Given the description of an element on the screen output the (x, y) to click on. 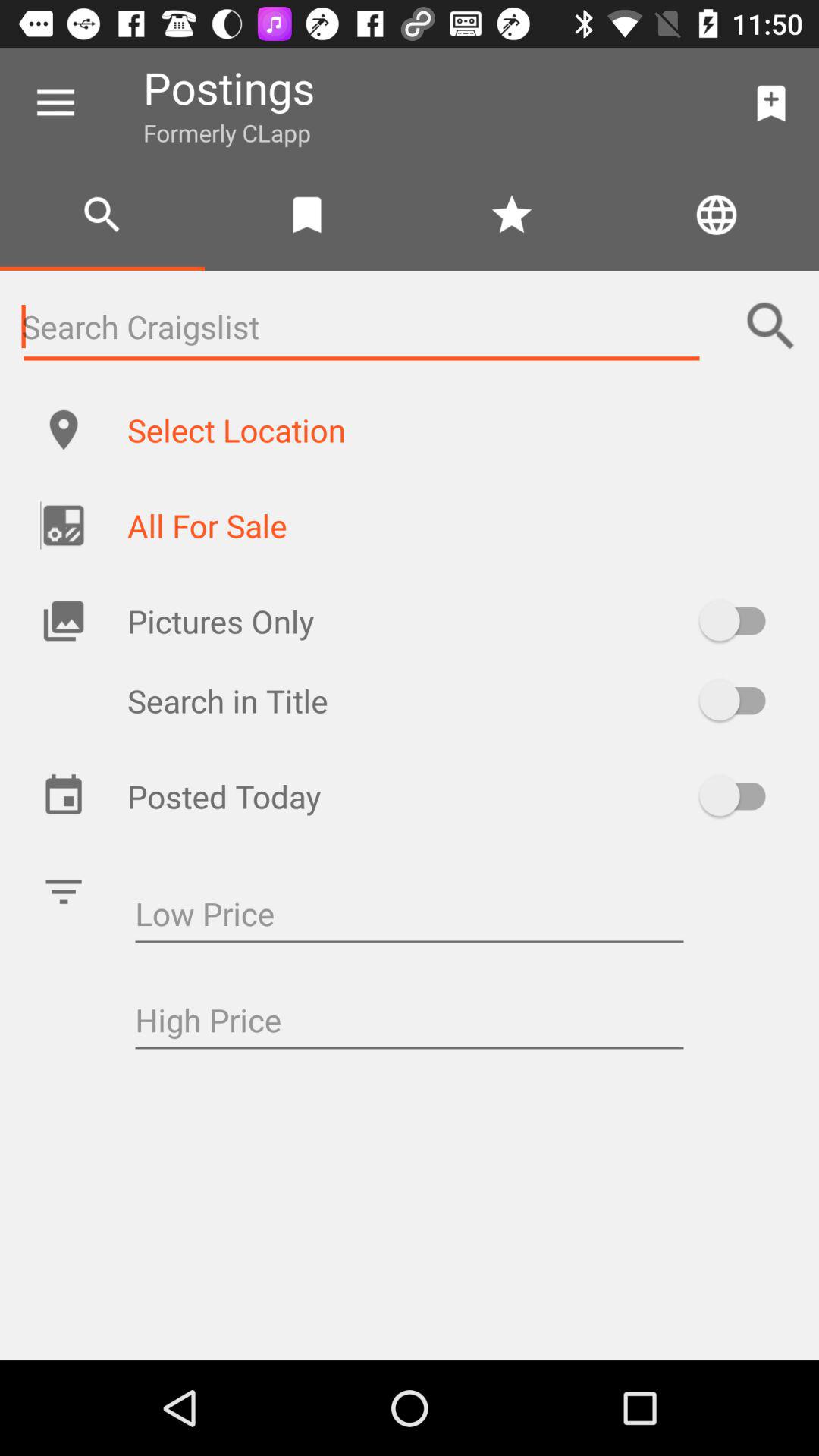
press the item to the left of postings item (55, 103)
